Given the description of an element on the screen output the (x, y) to click on. 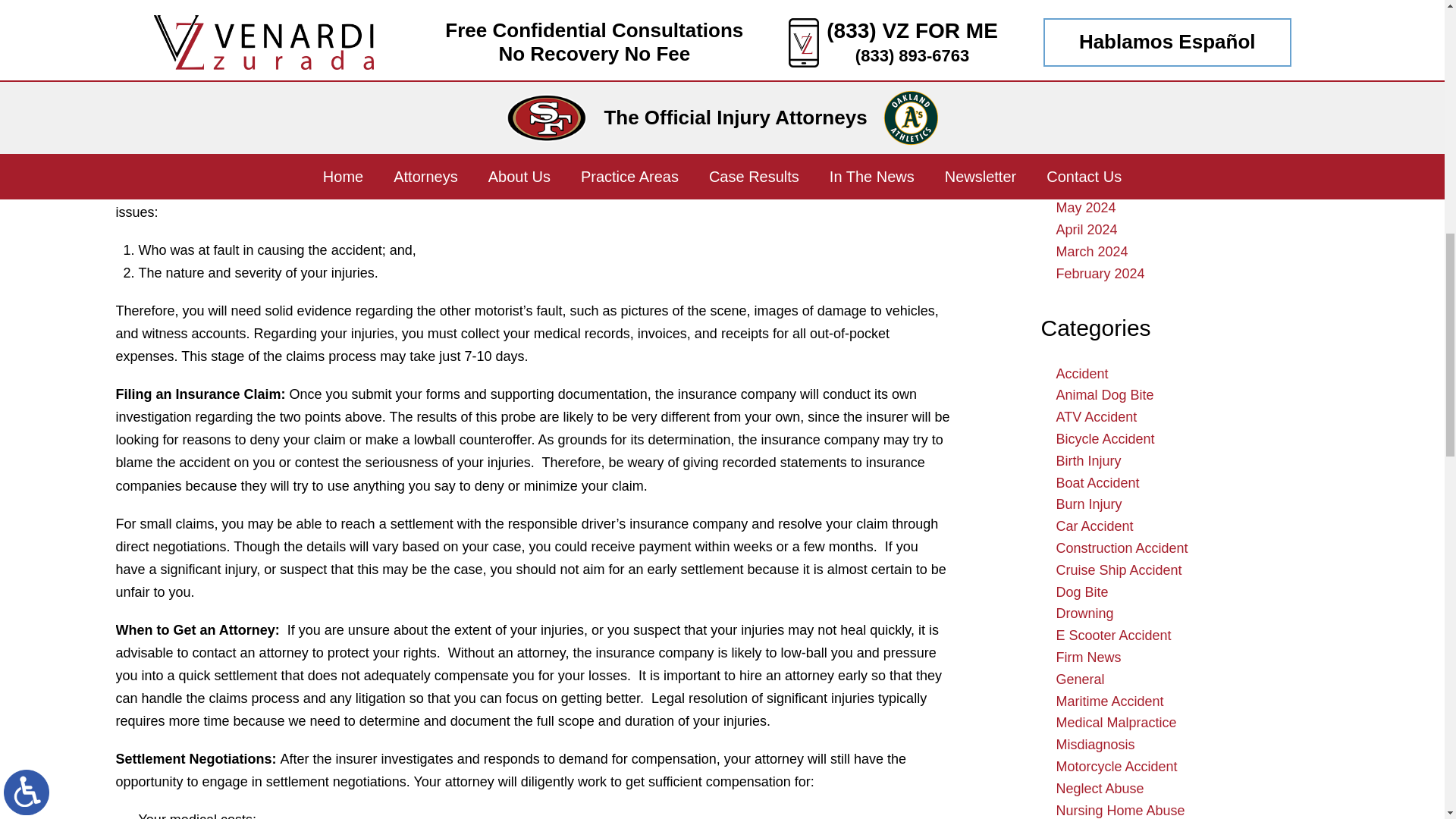
AccWitness (190, 24)
